Given the description of an element on the screen output the (x, y) to click on. 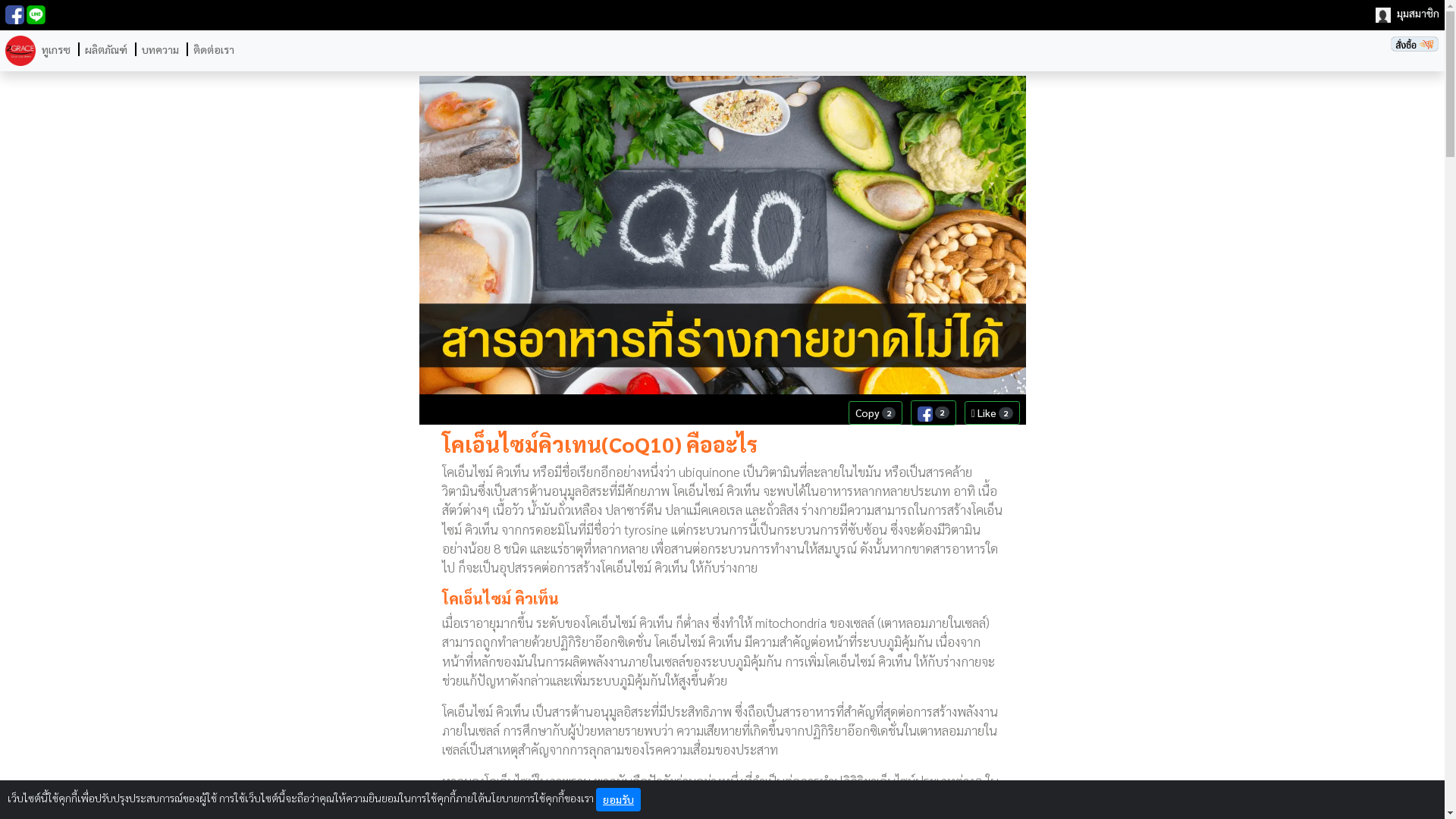
2 Element type: text (933, 412)
Copy 2 Element type: text (875, 412)
images/icon/shop.png Element type: hover (1414, 43)
